Given the description of an element on the screen output the (x, y) to click on. 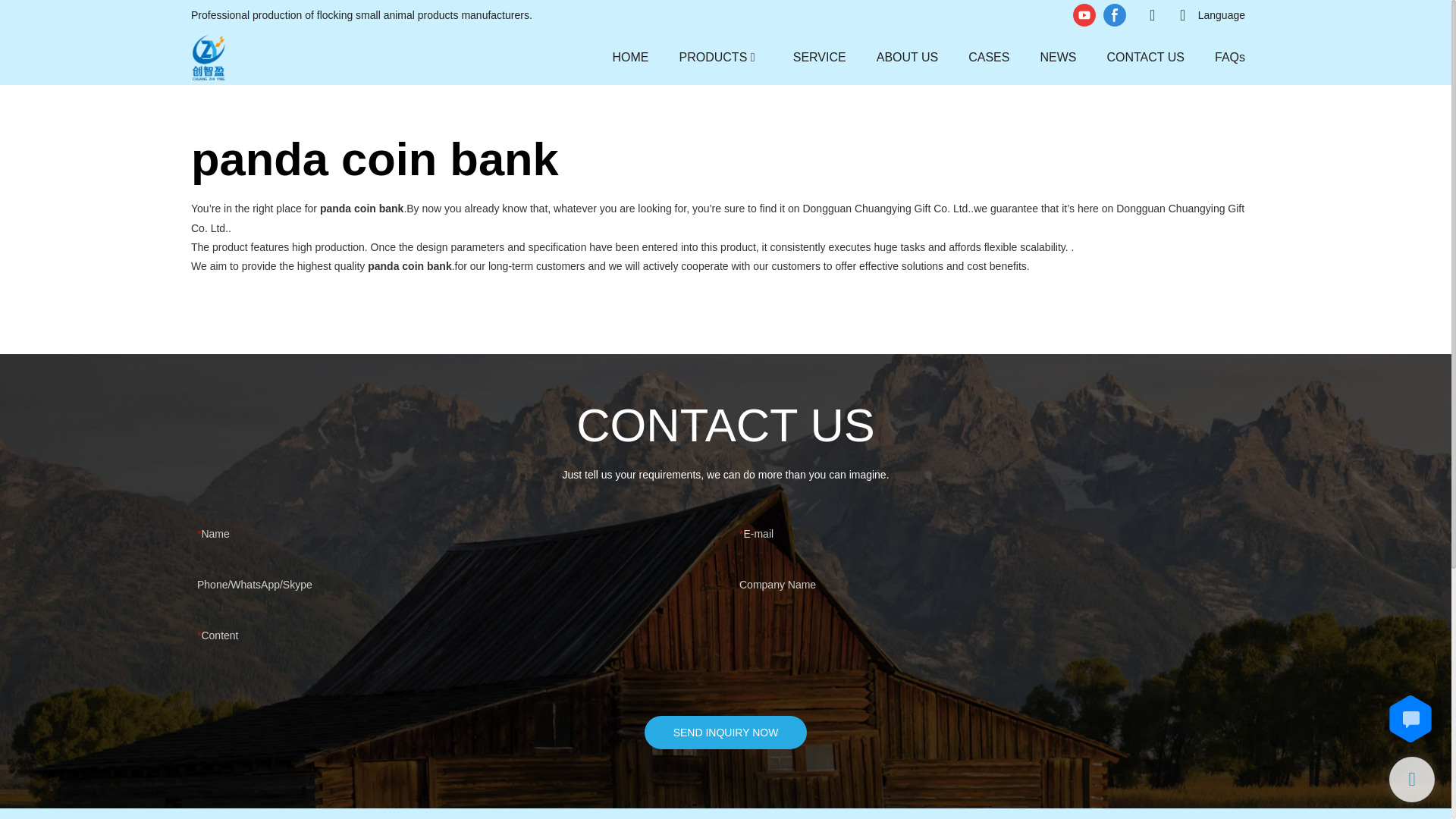
HOME (630, 56)
ABOUT US (907, 56)
youtube (1083, 15)
CONTACT US (1145, 56)
facebook (1114, 15)
NEWS (1057, 56)
CASES (988, 56)
PRODUCTS (713, 56)
SERVICE (819, 56)
FAQs (1229, 56)
SEND INQUIRY NOW (726, 732)
